Given the description of an element on the screen output the (x, y) to click on. 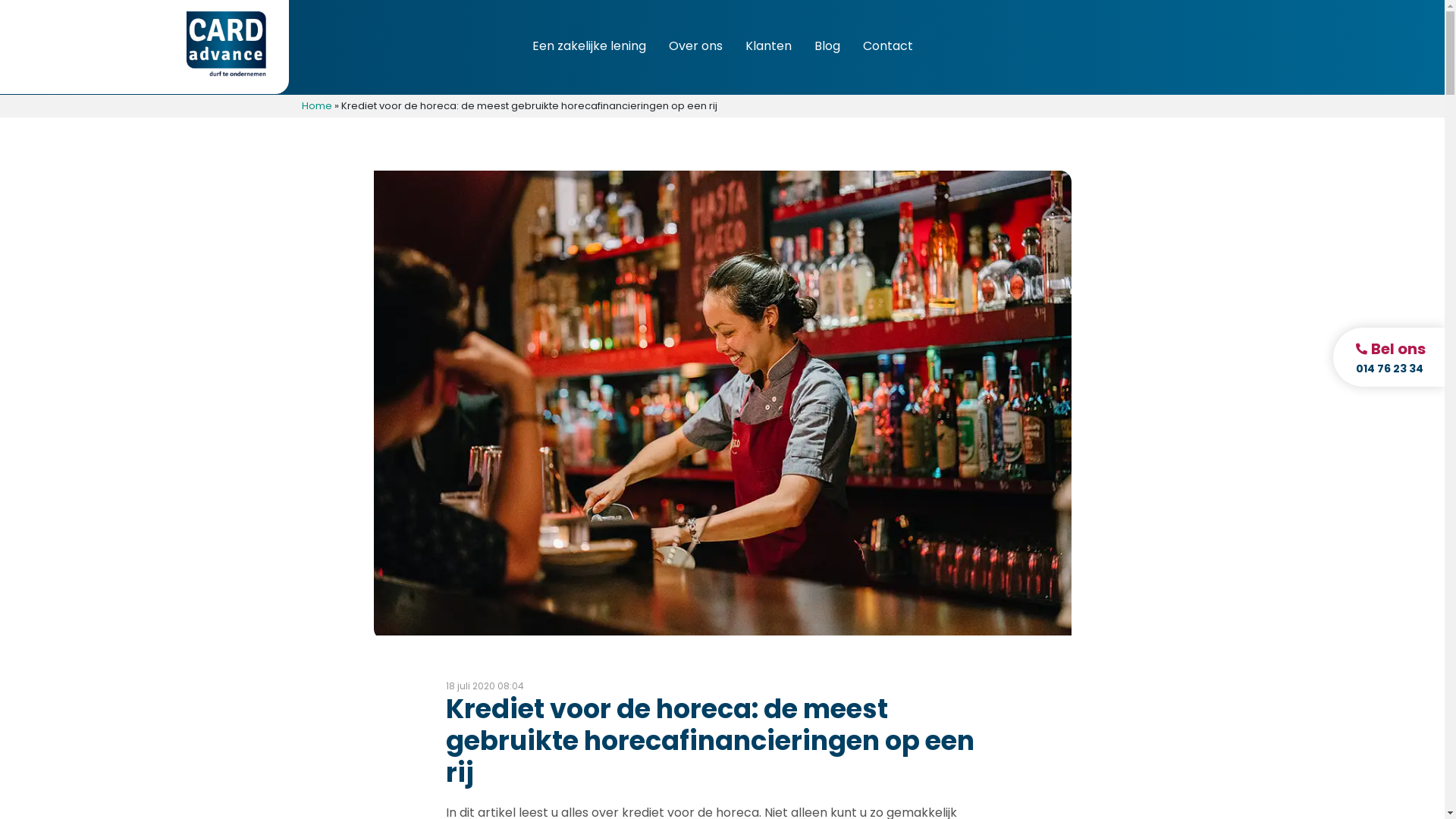
Bel ons
014 76 23 34 Element type: text (1388, 356)
Contact Element type: text (887, 46)
Over ons Element type: text (695, 46)
Een zakelijke lening Element type: text (589, 46)
Klanten Element type: text (767, 46)
Blog Element type: text (827, 46)
Home Element type: text (316, 105)
